Given the description of an element on the screen output the (x, y) to click on. 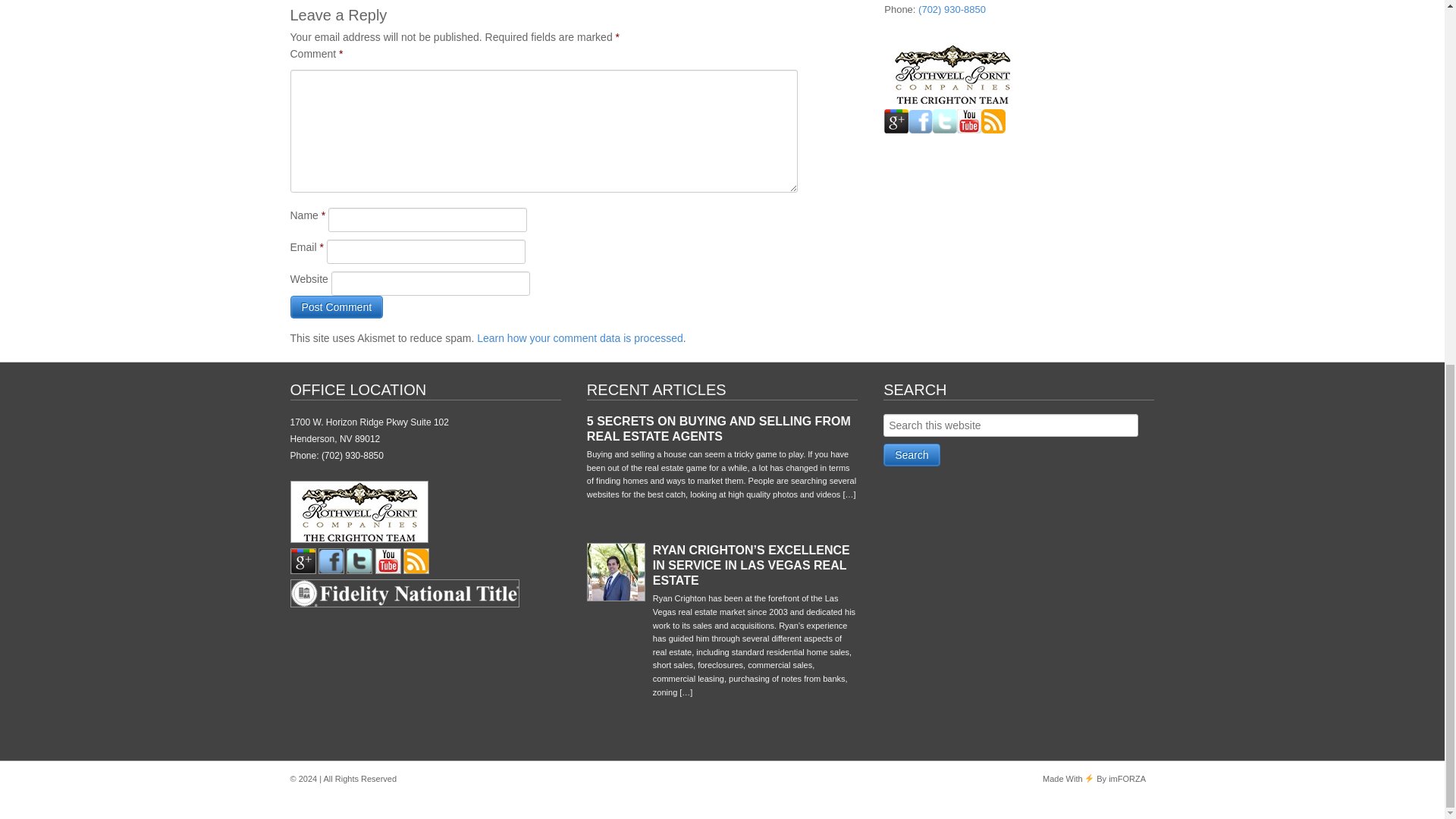
Search (911, 454)
Search (911, 454)
Post Comment (335, 306)
